Given the description of an element on the screen output the (x, y) to click on. 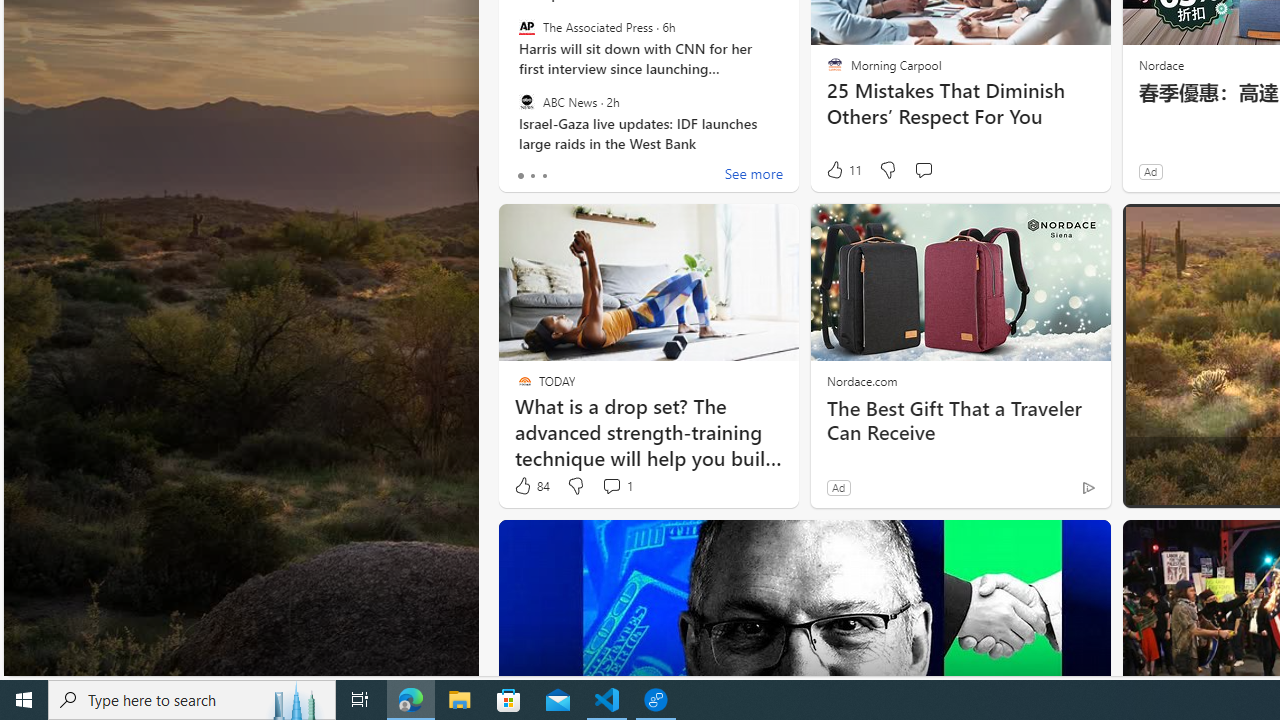
Ad (838, 487)
View comments 1 Comment (611, 485)
See more (753, 175)
tab-2 (543, 175)
ABC News (526, 101)
The Associated Press (526, 27)
101 Like (1157, 485)
